Given the description of an element on the screen output the (x, y) to click on. 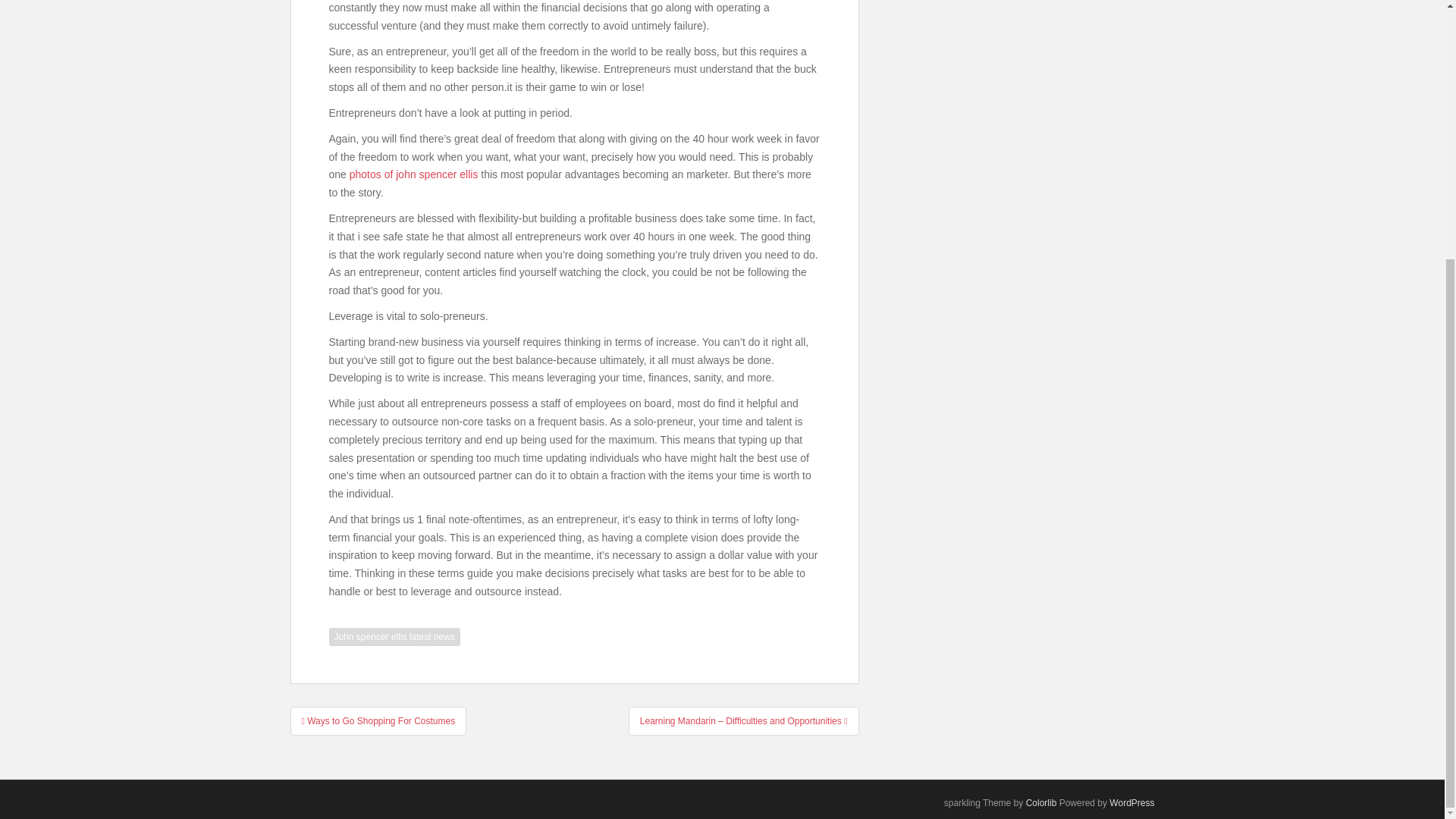
WordPress (1131, 802)
Colorlib (1041, 802)
photos of john spencer ellis (414, 174)
Ways to Go Shopping For Costumes (377, 720)
John spencer ellis latest news (394, 637)
